Given the description of an element on the screen output the (x, y) to click on. 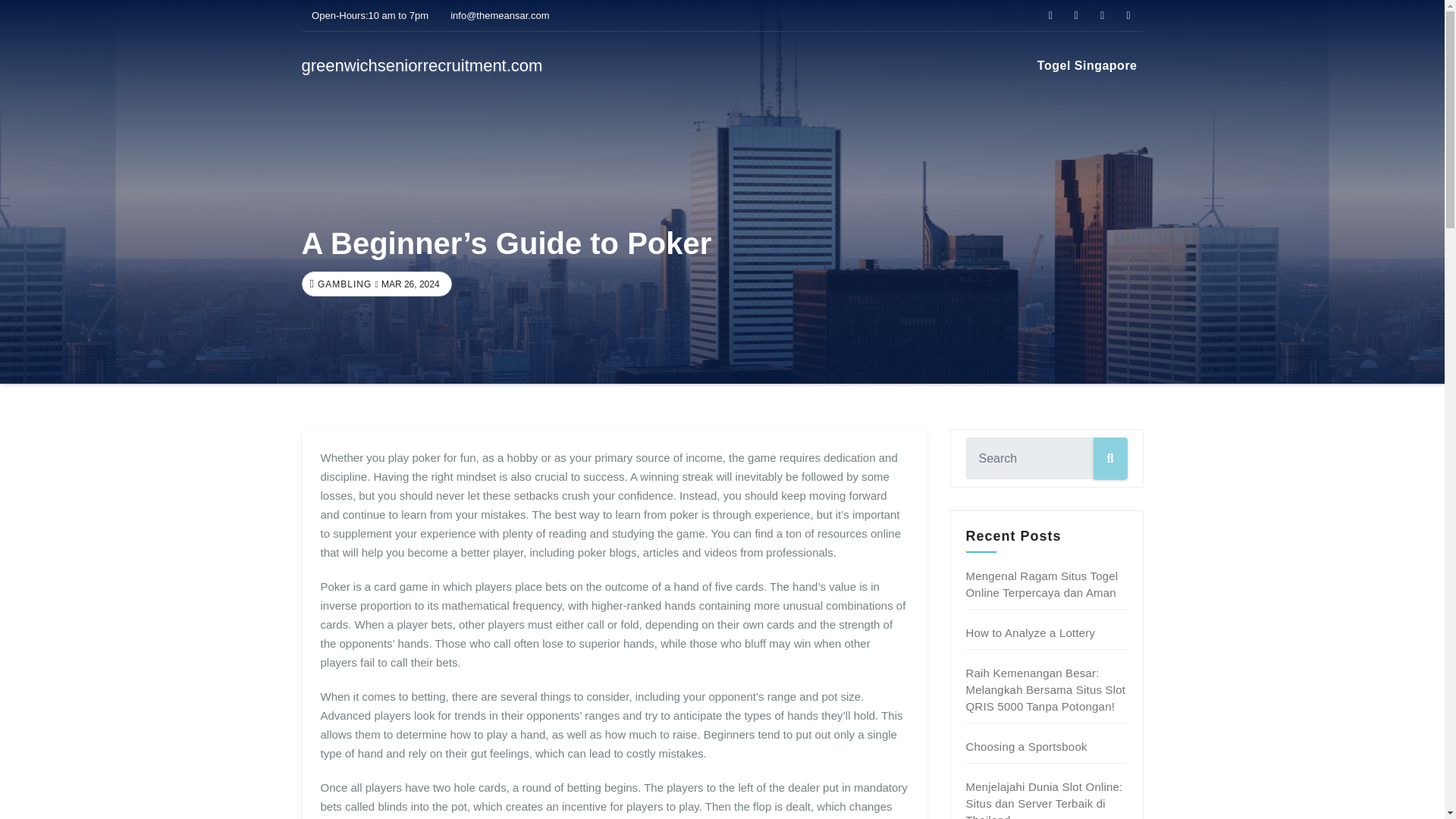
Mengenal Ragam Situs Togel Online Terpercaya dan Aman (1042, 583)
How to Analyze a Lottery (1031, 632)
Open-Hours:10 am to 7pm (365, 15)
GAMBLING (342, 284)
greenwichseniorrecruitment.com (422, 65)
Togel Singapore (1086, 65)
Togel Singapore (1086, 65)
Choosing a Sportsbook (1026, 746)
